Given the description of an element on the screen output the (x, y) to click on. 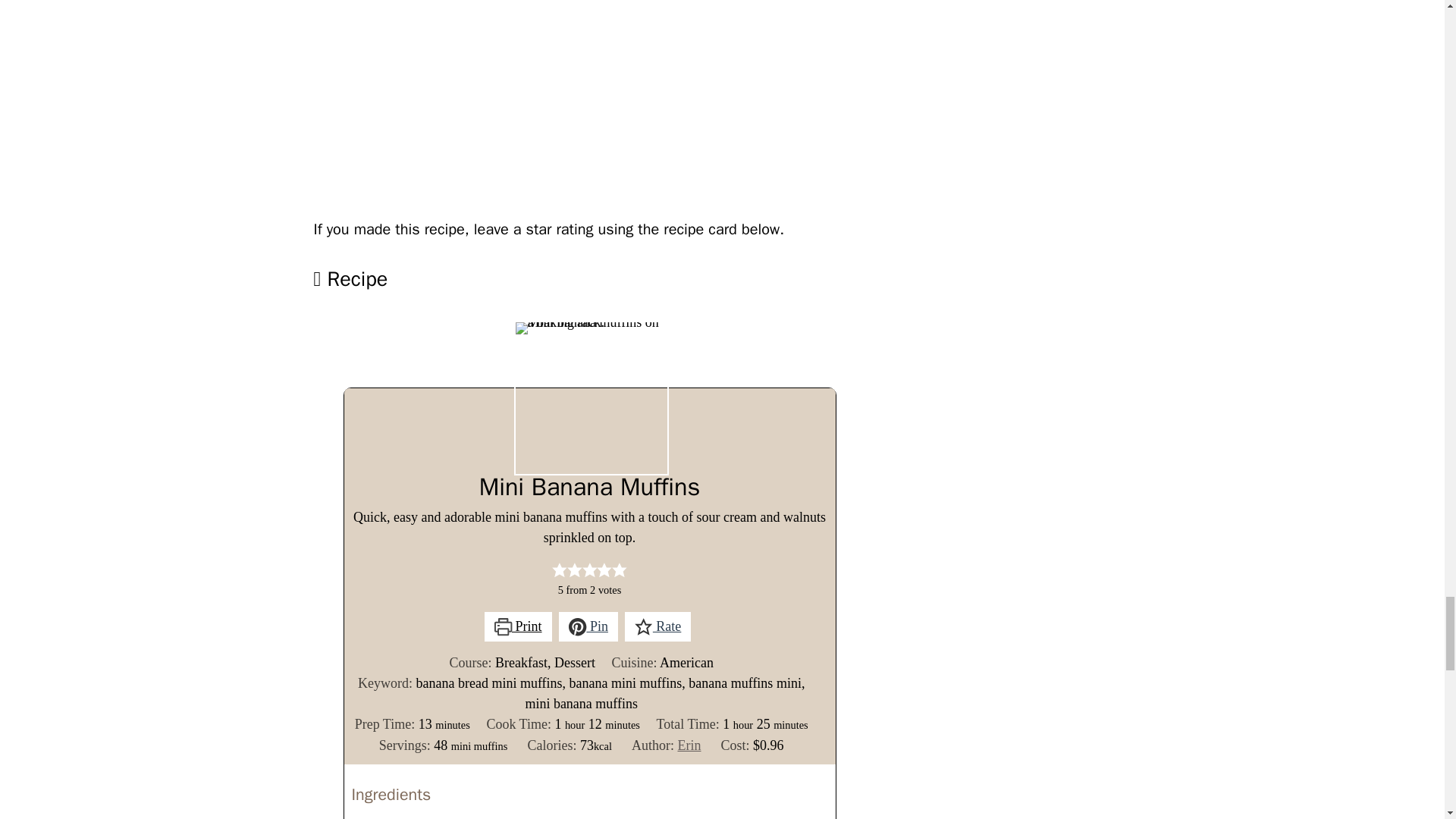
Erin (688, 744)
Cinnamon Swirl French Toast (727, 102)
Print (517, 626)
Raspberry and White Chocolate Muffins (587, 102)
Pin (588, 626)
Crisco Biscuits (868, 102)
Rate (657, 626)
